Given the description of an element on the screen output the (x, y) to click on. 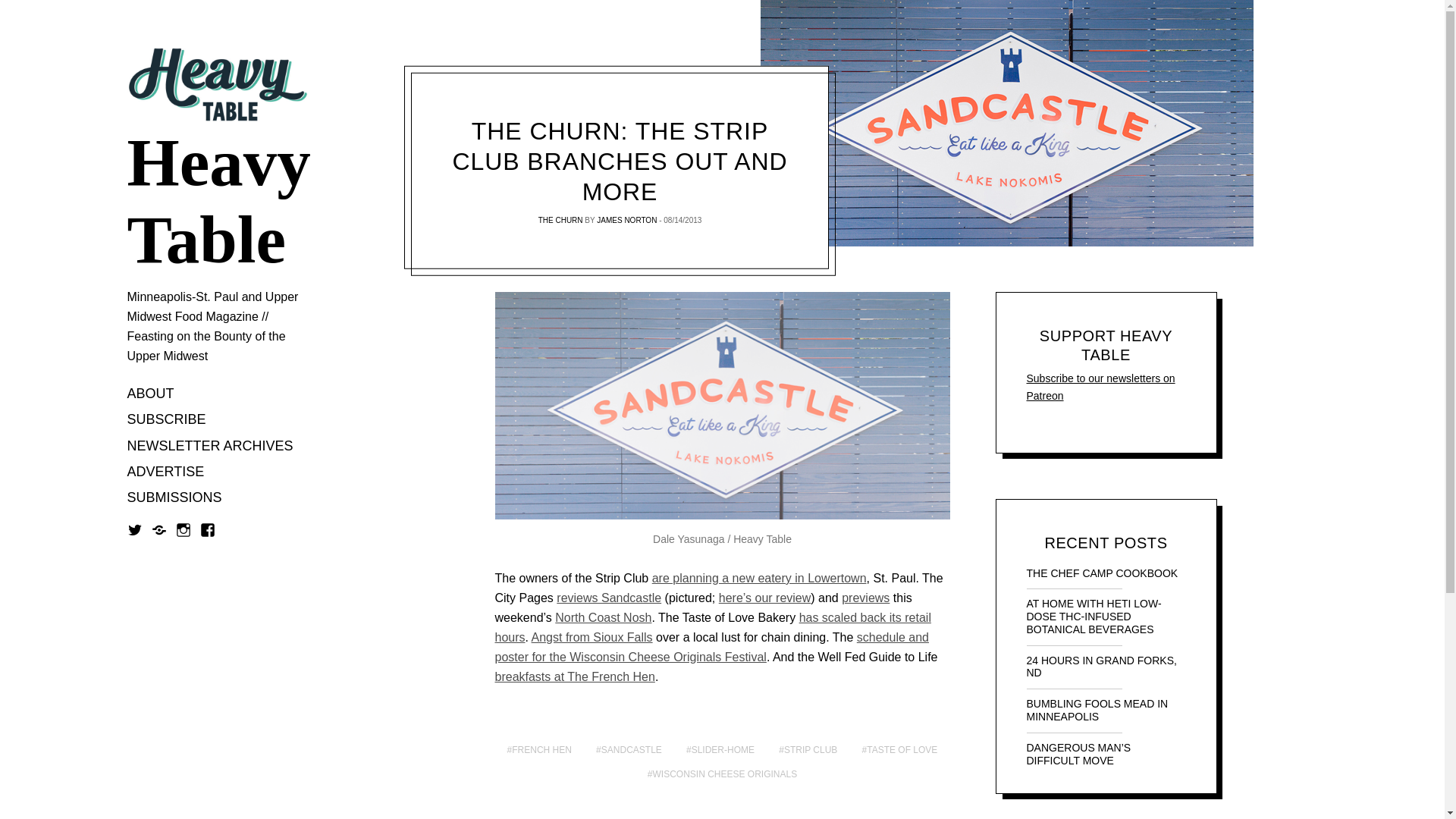
NEWSLETTER ARCHIVES (211, 446)
Heavy Table (218, 201)
North Coast Nosh (602, 617)
has scaled back its retail hours (712, 626)
ADVERTISE (166, 472)
JAMES NORTON (626, 220)
THE CHURN (560, 220)
Angst from Sioux Falls (591, 636)
TASTE OF LOVE (899, 750)
breakfasts at The French Hen (574, 676)
FRENCH HEN (539, 750)
THE CHEF CAMP COOKBOOK (1106, 573)
SANDCASTLE (628, 750)
SUBMISSIONS (175, 498)
WISCONSIN CHEESE ORIGINALS (722, 774)
